Given the description of an element on the screen output the (x, y) to click on. 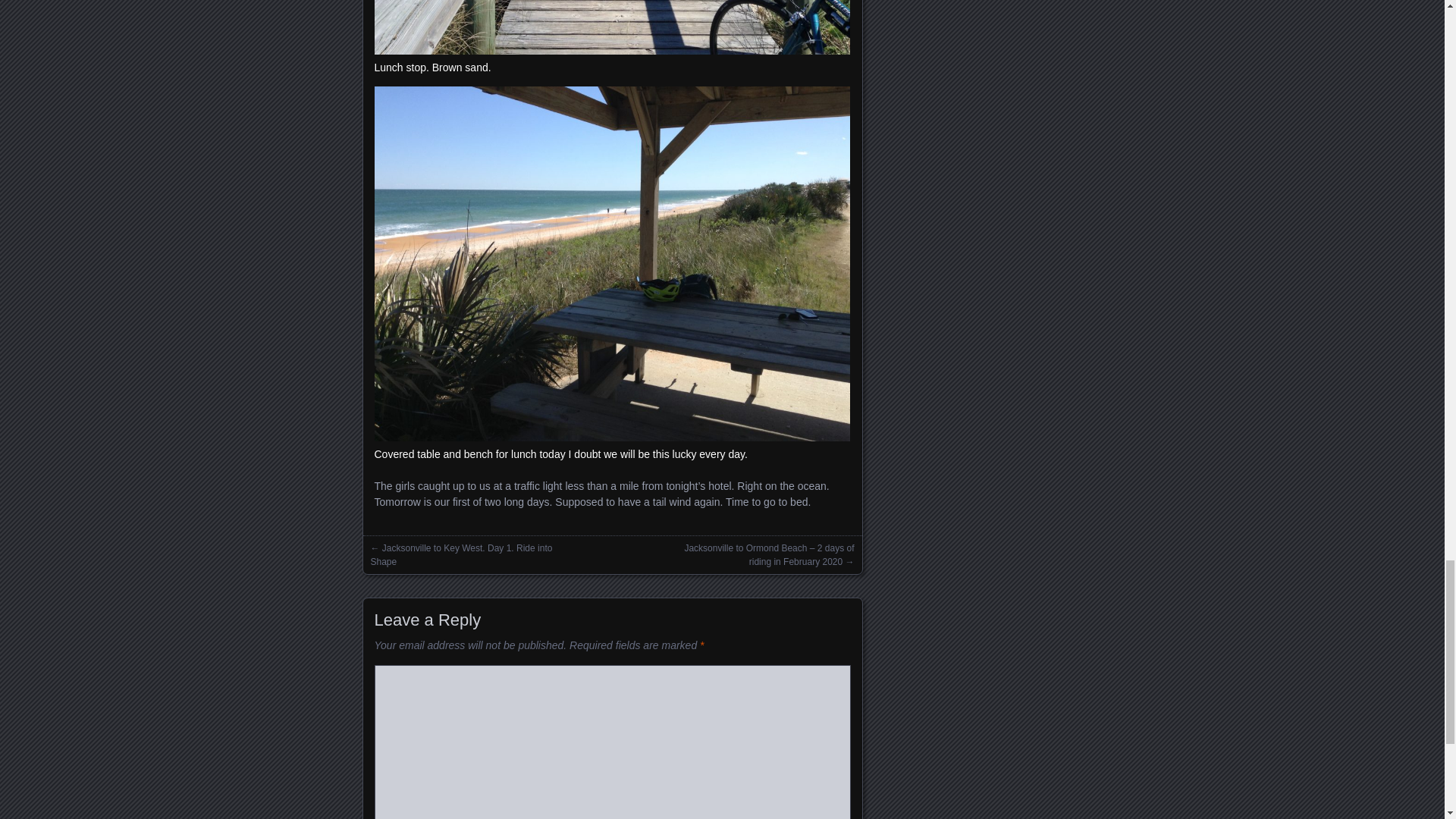
Jacksonville to Key West. Day 1. Ride into Shape (460, 554)
